Given the description of an element on the screen output the (x, y) to click on. 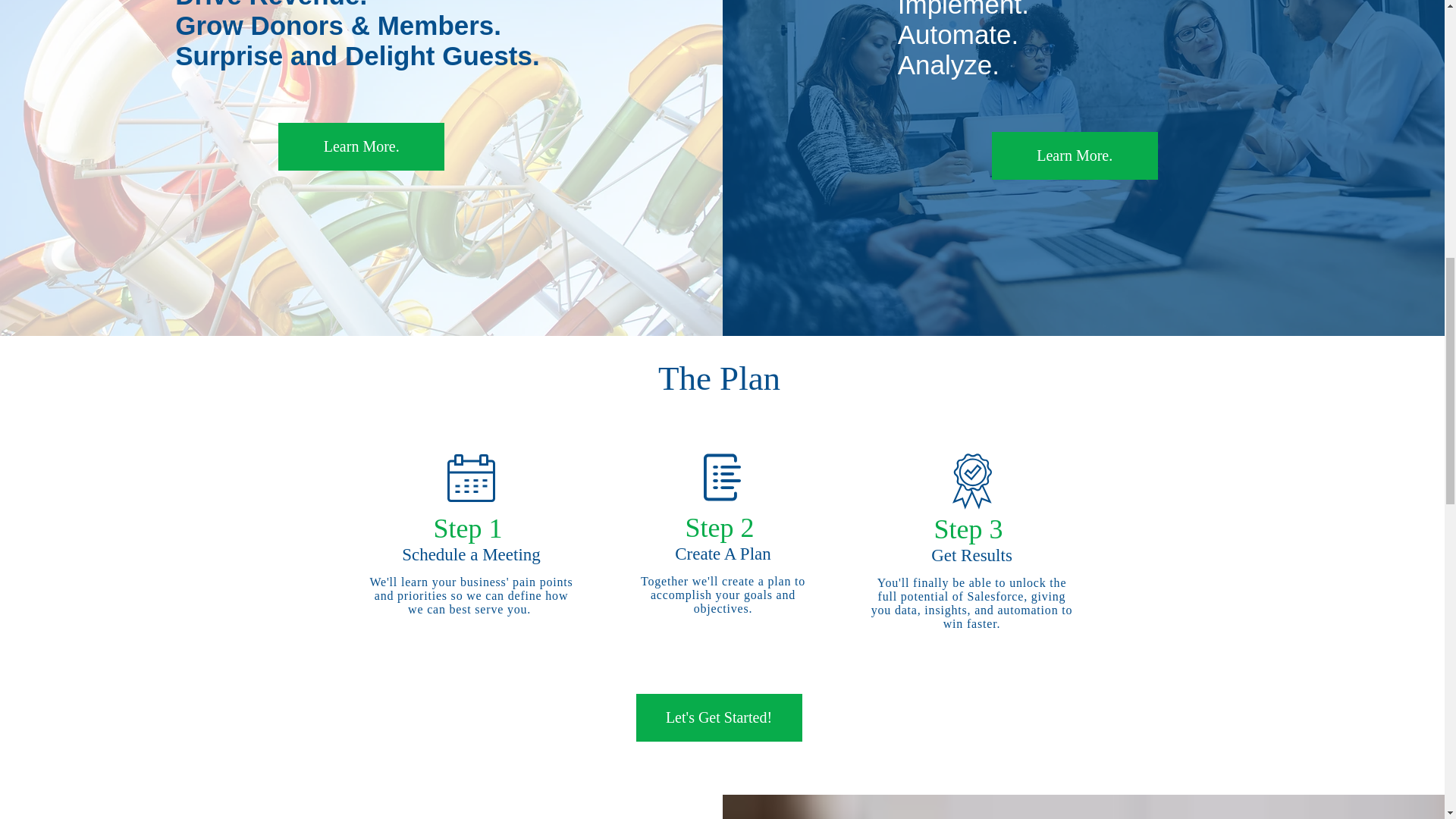
Learn More. (361, 146)
Learn More. (1074, 155)
Let's Get Started! (718, 717)
